Given the description of an element on the screen output the (x, y) to click on. 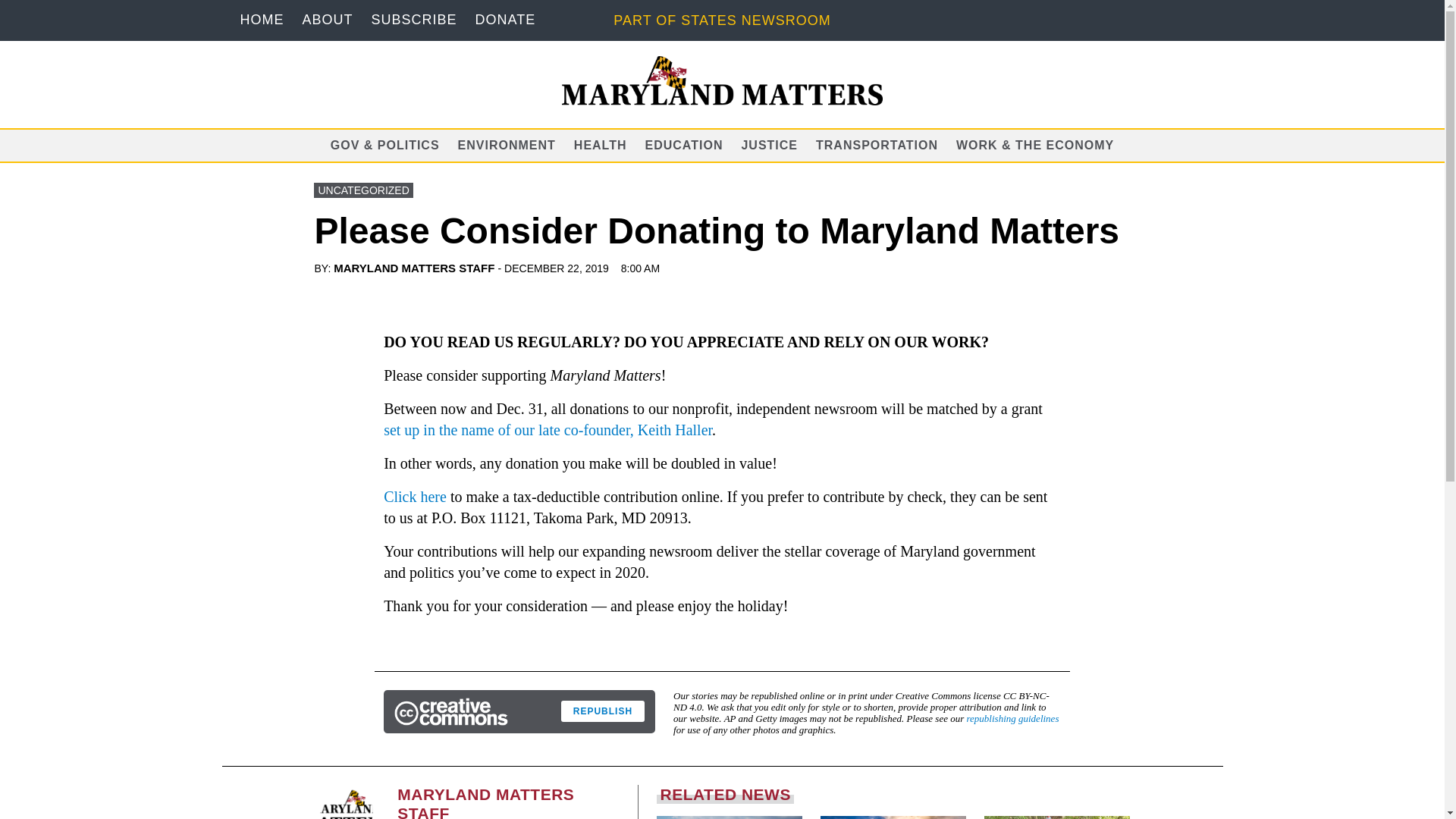
Posts by Maryland Matters Staff (414, 267)
set up in the name of our late co-founder, Keith Haller (547, 429)
Maryland Matters (722, 80)
Click here (415, 496)
ABOUT (326, 19)
search (16, 9)
HOME (261, 19)
DONATE (505, 19)
UNCATEGORIZED (363, 190)
JUSTICE (769, 144)
